Given the description of an element on the screen output the (x, y) to click on. 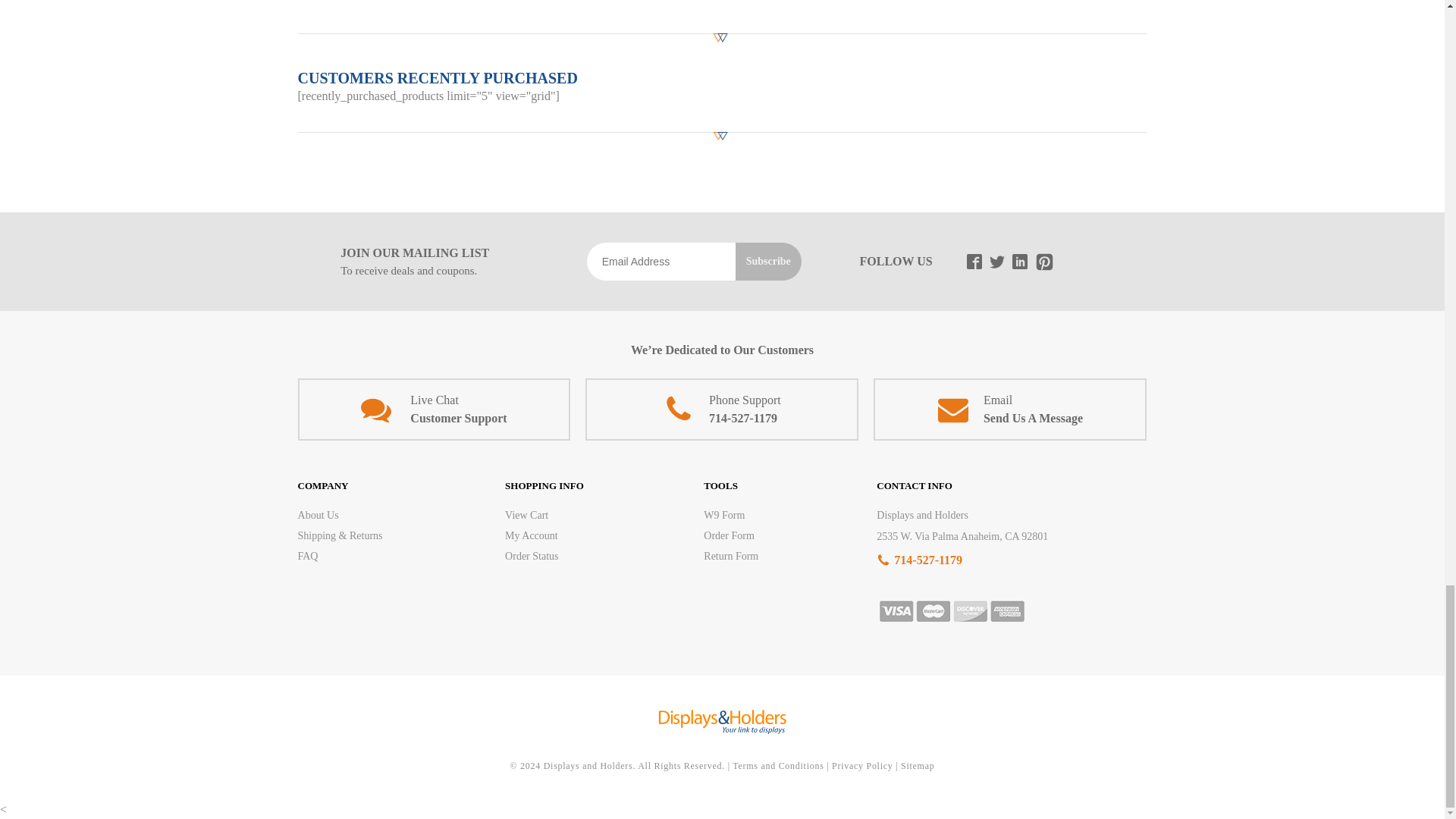
Subscribe (768, 261)
